Given the description of an element on the screen output the (x, y) to click on. 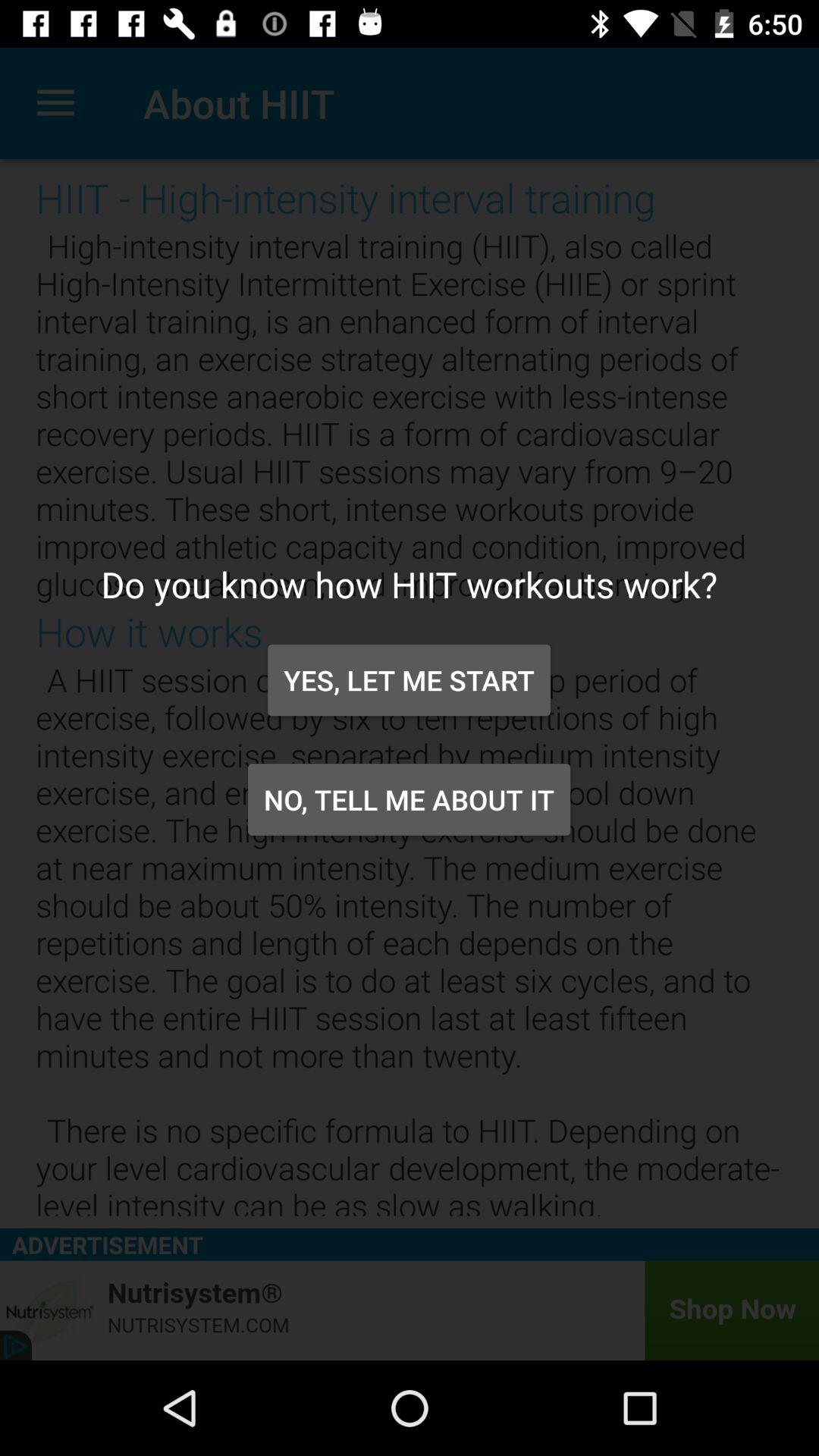
swipe to no tell me icon (409, 799)
